Given the description of an element on the screen output the (x, y) to click on. 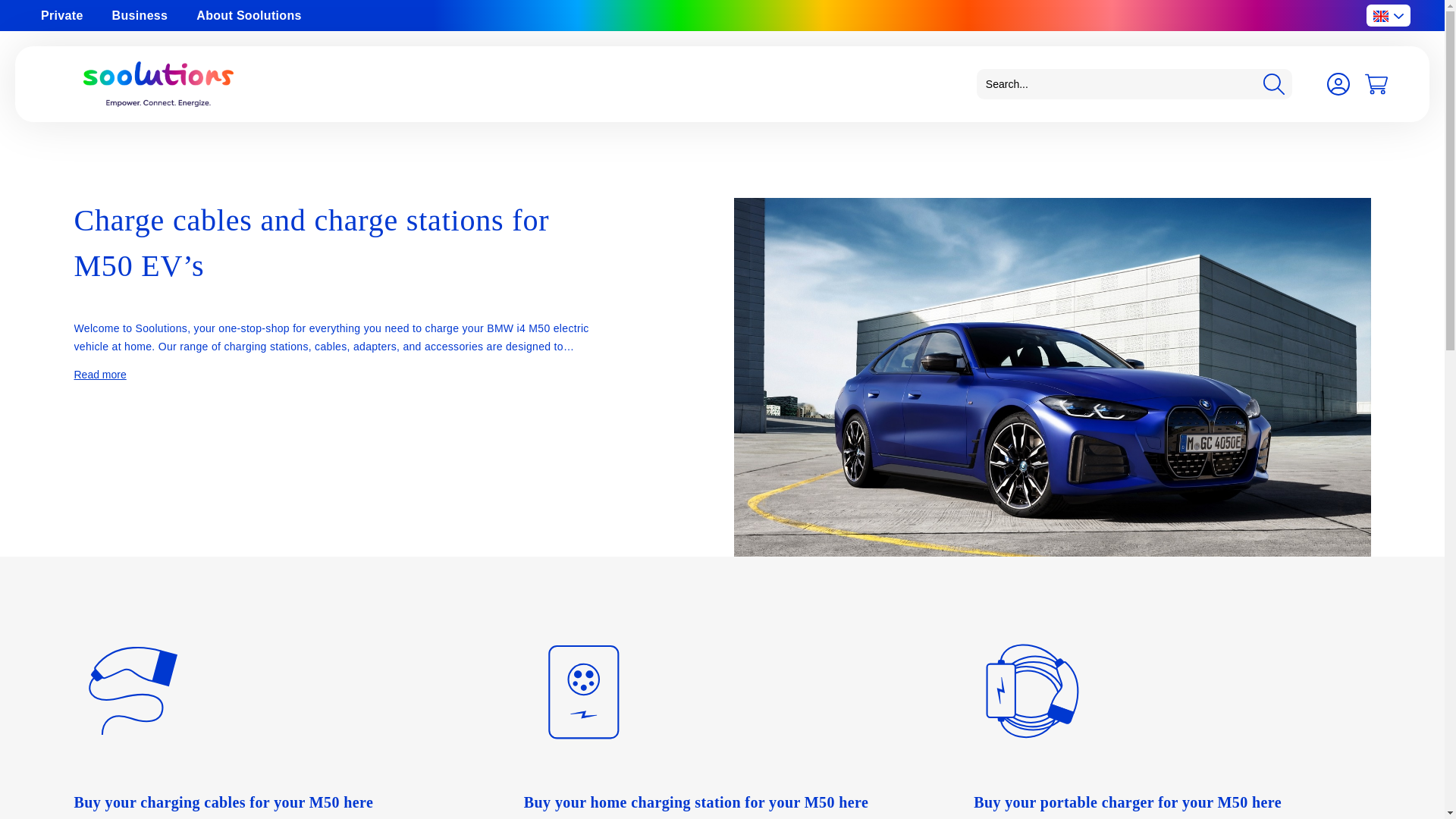
Private (61, 14)
About Soolutions (248, 14)
Business (139, 14)
Business (139, 14)
About Soolutions (248, 14)
Private (61, 14)
